Given the description of an element on the screen output the (x, y) to click on. 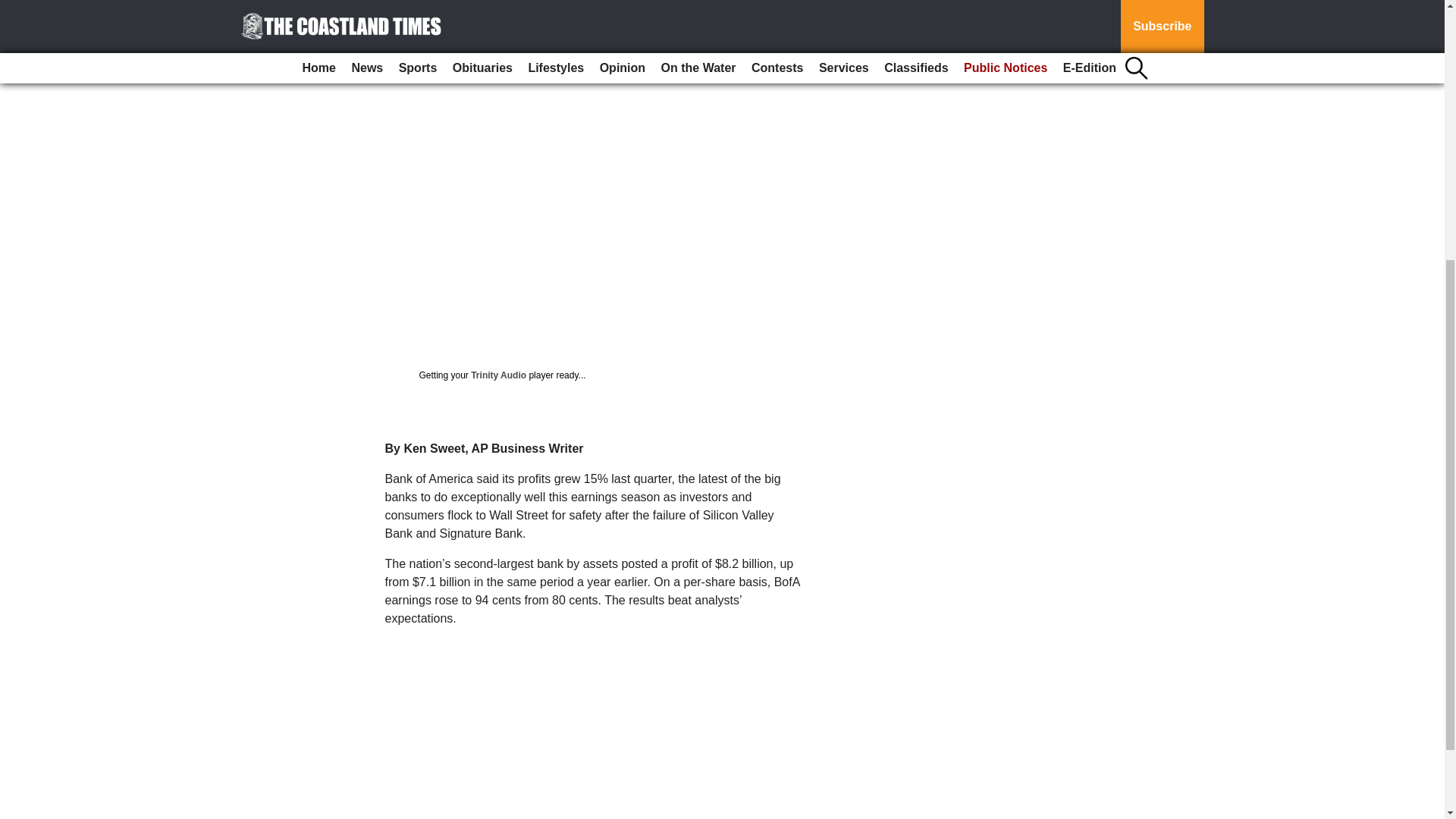
Associated Press (402, 4)
Trinity Audio (497, 375)
